Given the description of an element on the screen output the (x, y) to click on. 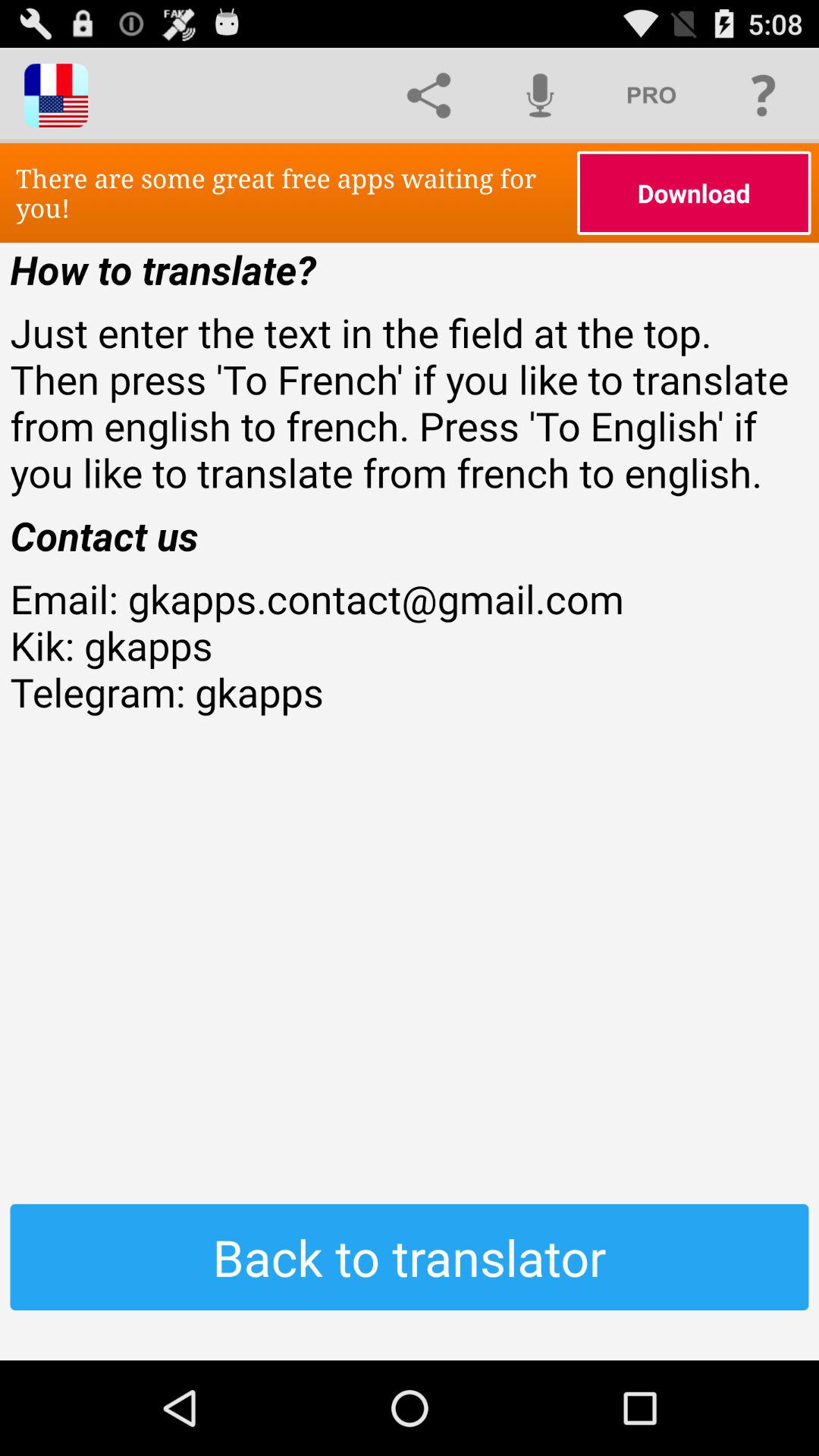
press item above the there are some (428, 95)
